Given the description of an element on the screen output the (x, y) to click on. 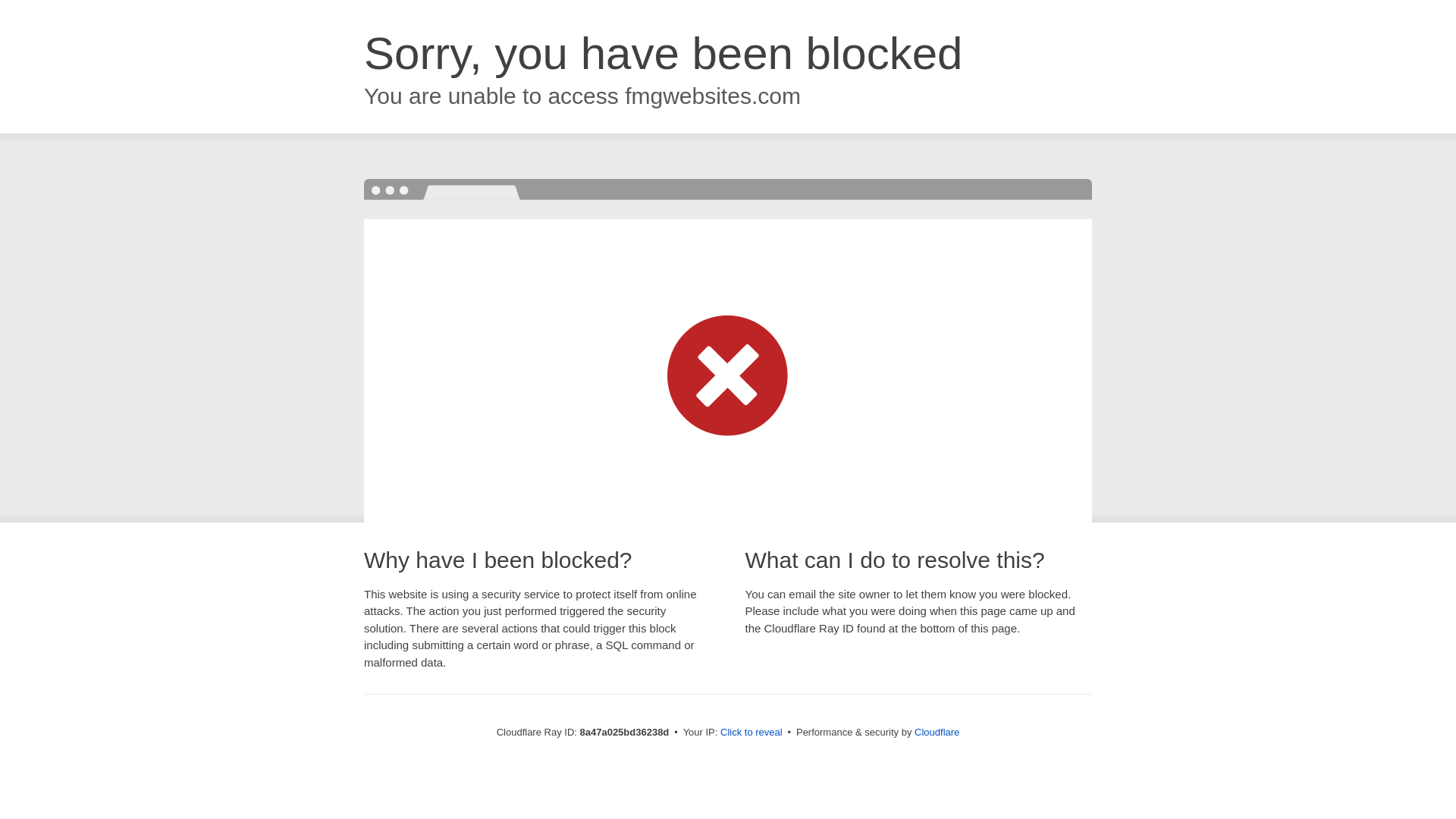
Cloudflare (936, 731)
Click to reveal (751, 732)
